Given the description of an element on the screen output the (x, y) to click on. 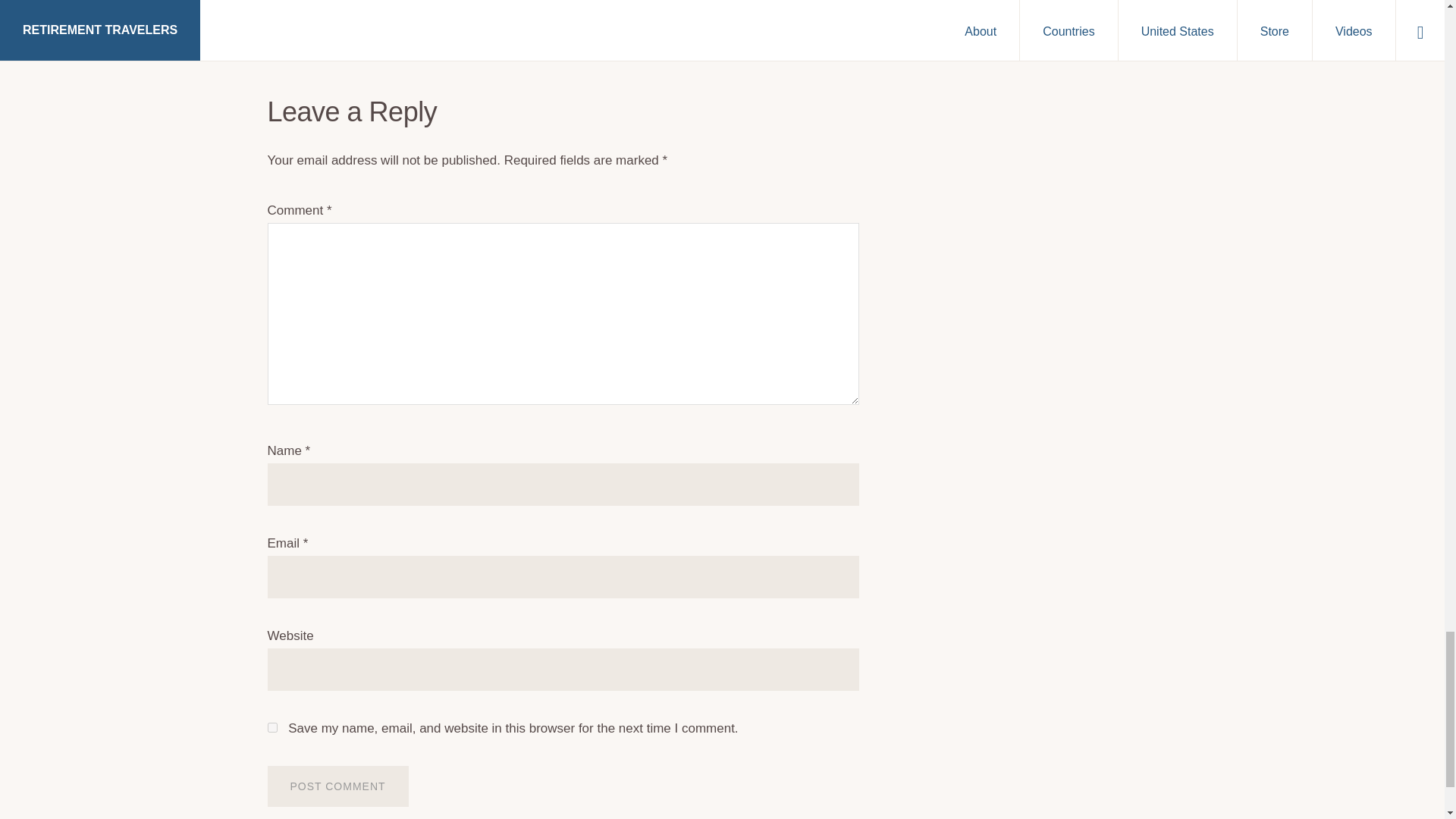
yes (271, 727)
Post Comment (336, 785)
